Given the description of an element on the screen output the (x, y) to click on. 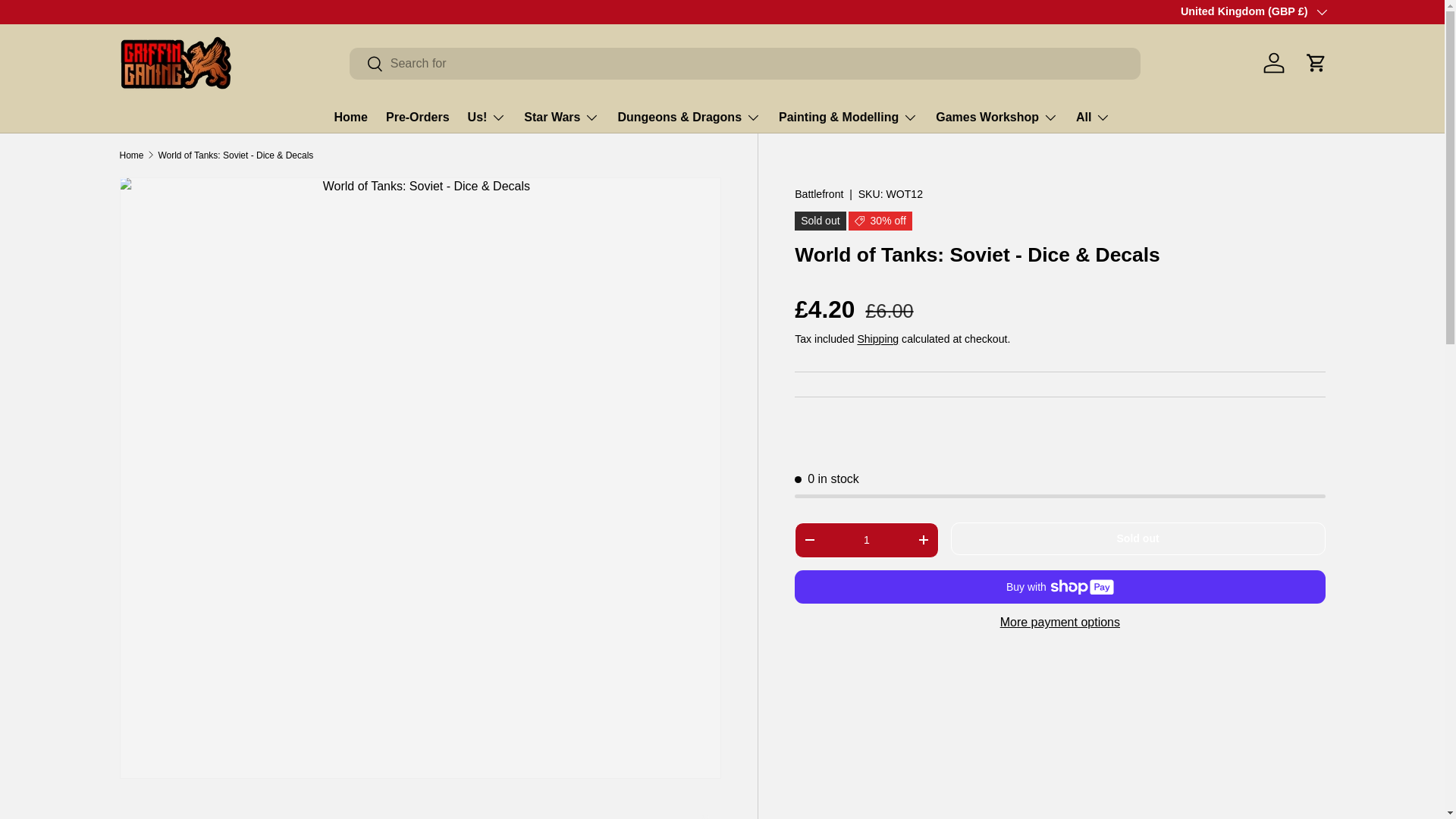
1 (866, 540)
Log in (1273, 62)
Home (351, 116)
Cart (1316, 62)
Pre-Orders (417, 116)
Star Wars (561, 117)
Us! (486, 117)
Search (366, 64)
Skip to content (68, 21)
